Given the description of an element on the screen output the (x, y) to click on. 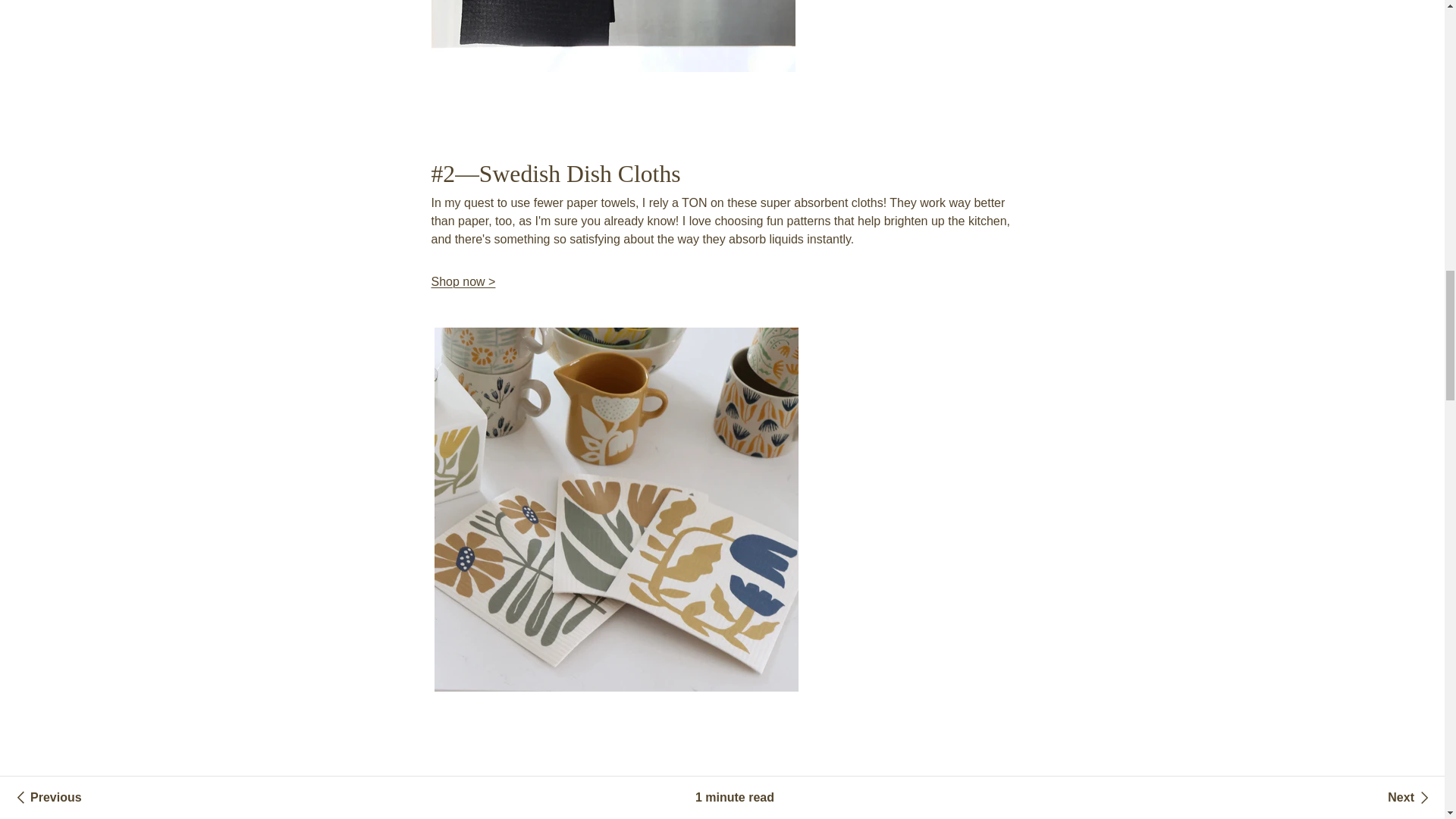
Swedish Dish Cloths (462, 281)
